Given the description of an element on the screen output the (x, y) to click on. 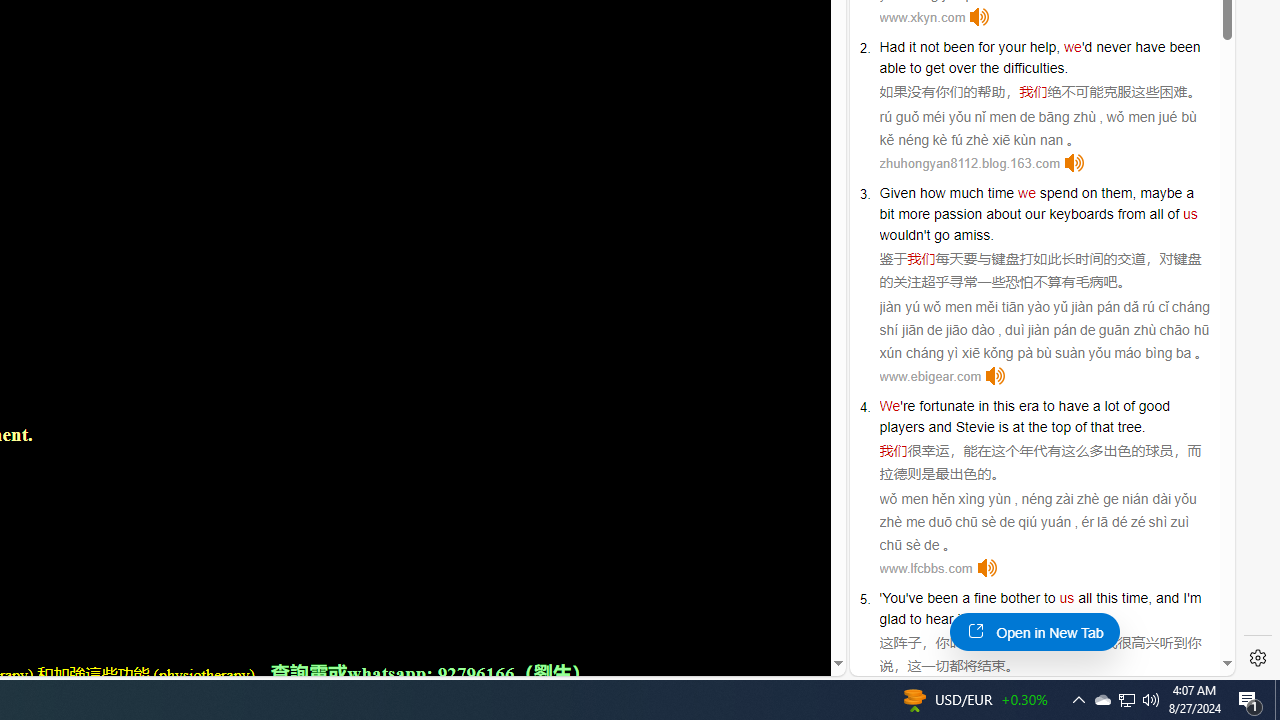
over (962, 67)
is (1003, 426)
this (1106, 597)
about (1003, 213)
we (1026, 192)
maybe (1161, 192)
your (1012, 46)
